Given the description of an element on the screen output the (x, y) to click on. 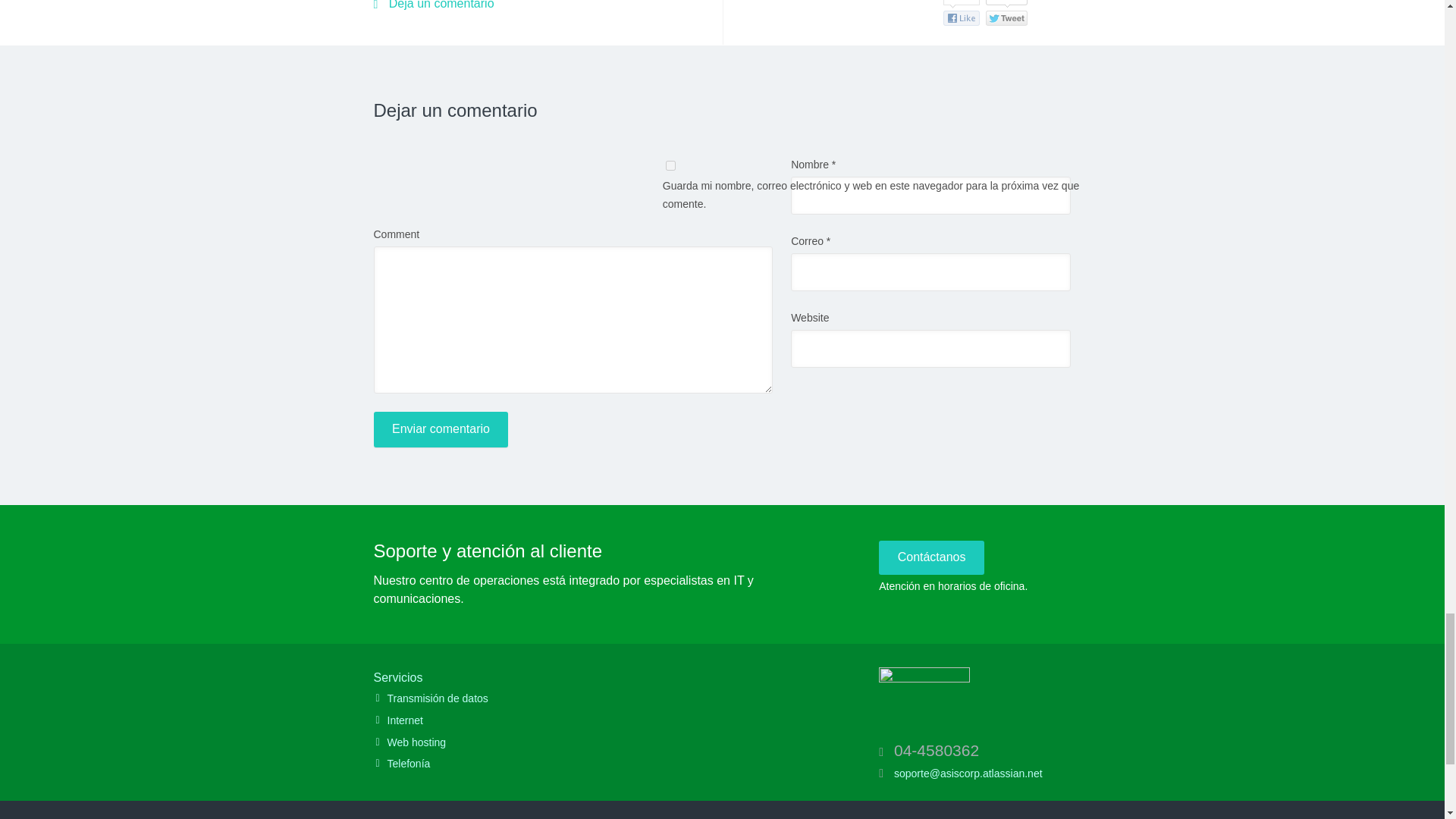
Deja un comentario (432, 5)
Enviar comentario (440, 429)
Web hosting (592, 742)
Internet (592, 721)
Servicios (397, 677)
yes (670, 165)
Enviar comentario (440, 429)
